Given the description of an element on the screen output the (x, y) to click on. 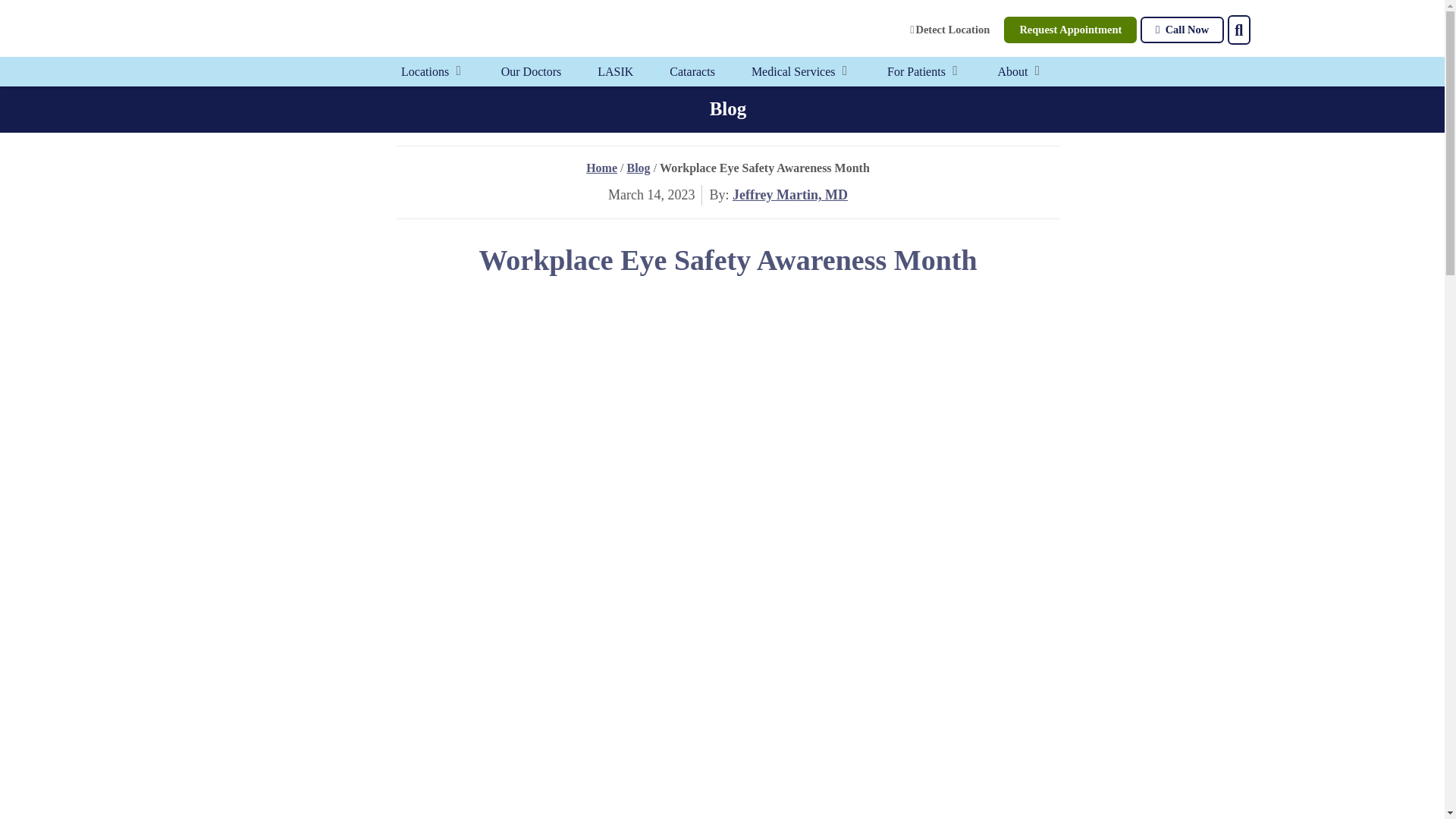
Locations (424, 71)
Medical Services (793, 71)
Our Doctors (531, 71)
For Patients (915, 71)
LASIK (614, 71)
Cataracts (691, 71)
About (1012, 71)
